Given the description of an element on the screen output the (x, y) to click on. 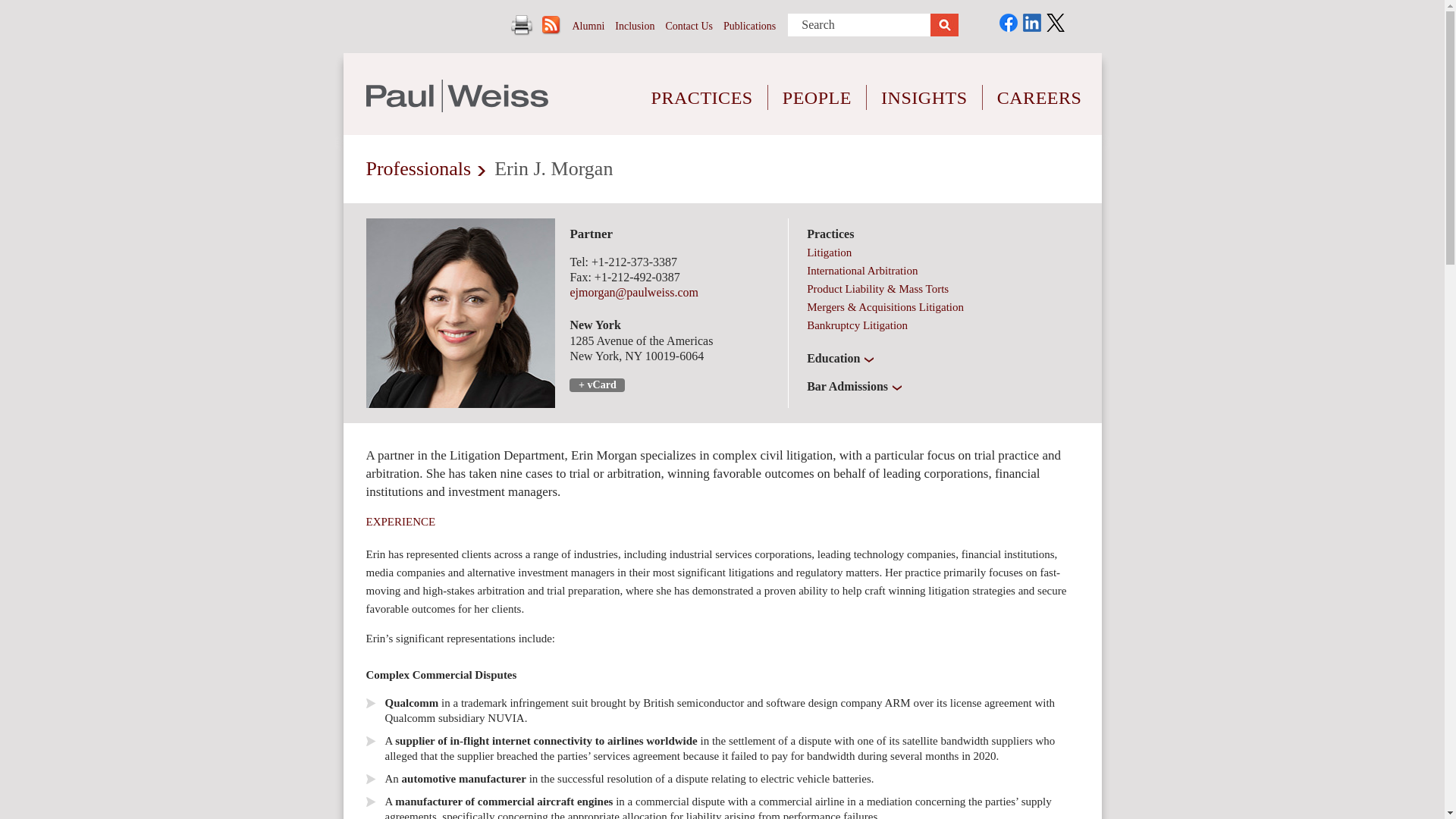
Contact Us (689, 25)
RSS (550, 25)
SEARCH (944, 24)
Inclusion (633, 25)
Publications (749, 25)
Print (522, 25)
Alumni (588, 25)
logo (456, 95)
PRACTICES (702, 86)
